Given the description of an element on the screen output the (x, y) to click on. 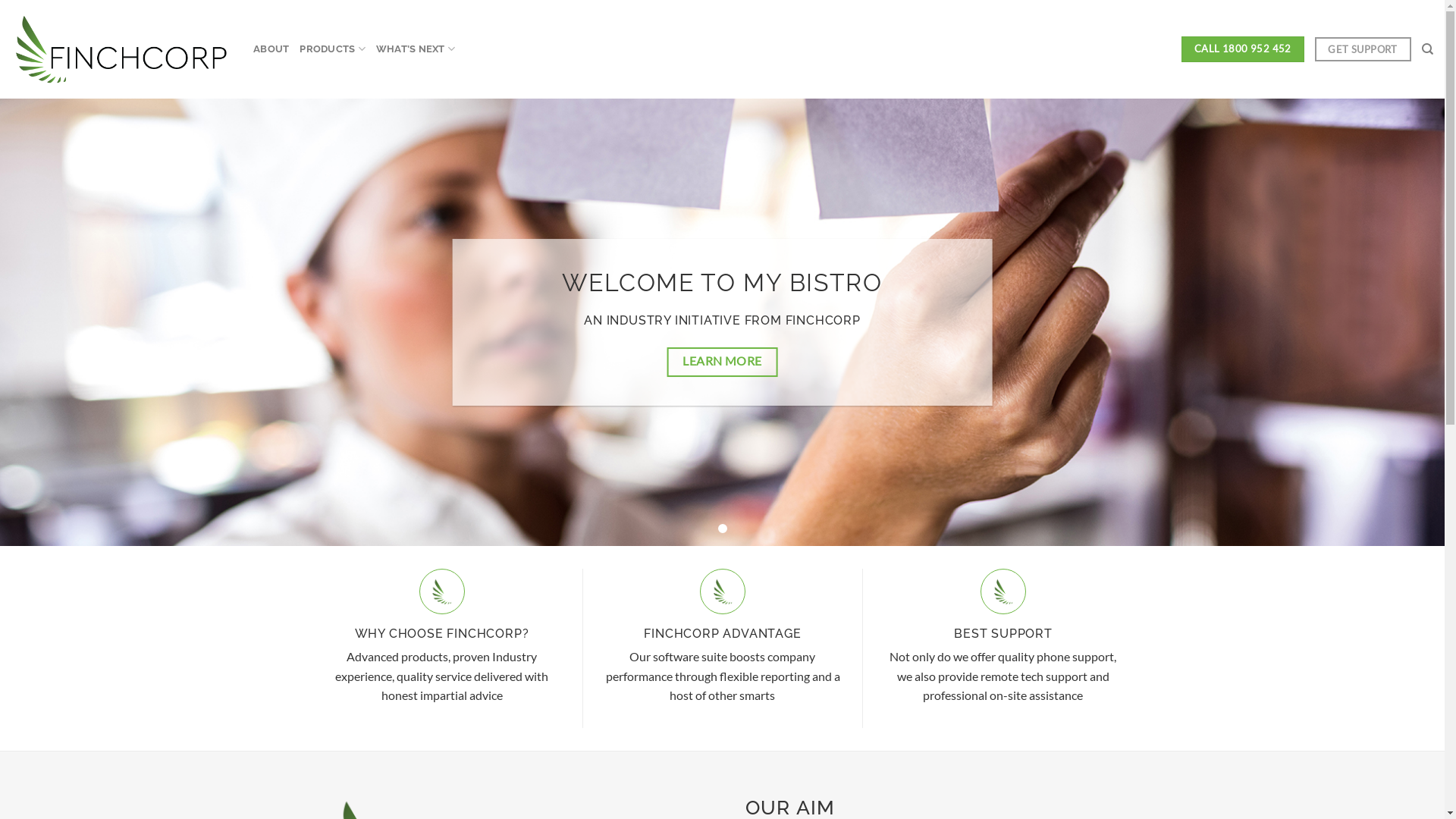
ABOUT Element type: text (270, 49)
CALL 1800 952 452 Element type: text (1242, 49)
LEARN MORE Element type: text (722, 361)
Finchcorp - My Bistro Element type: hover (120, 49)
GET SUPPORT Element type: text (1362, 48)
PRODUCTS Element type: text (332, 49)
Skip to content Element type: text (0, 0)
